Given the description of an element on the screen output the (x, y) to click on. 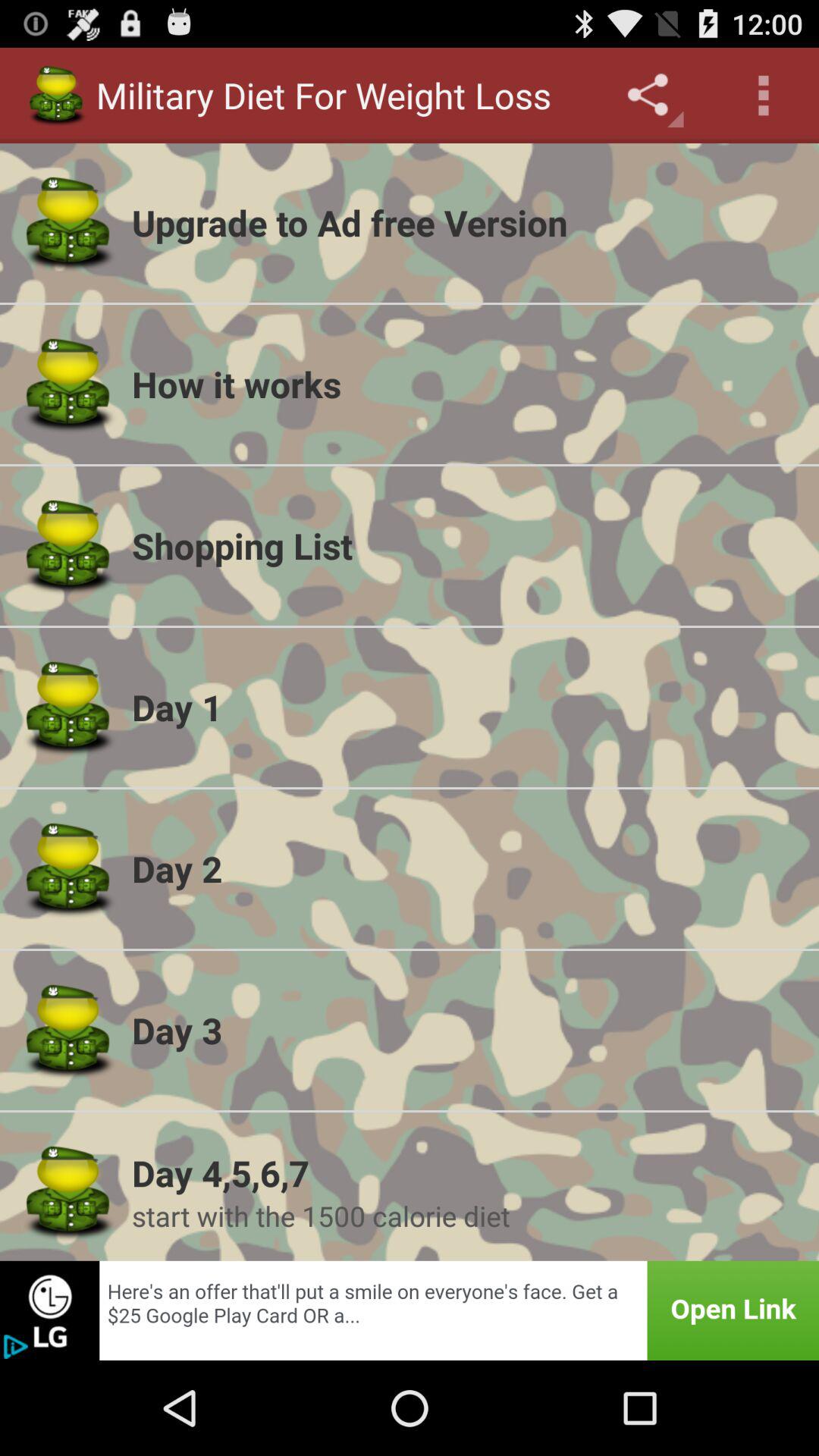
open the icon above day 4 5 app (465, 1030)
